Given the description of an element on the screen output the (x, y) to click on. 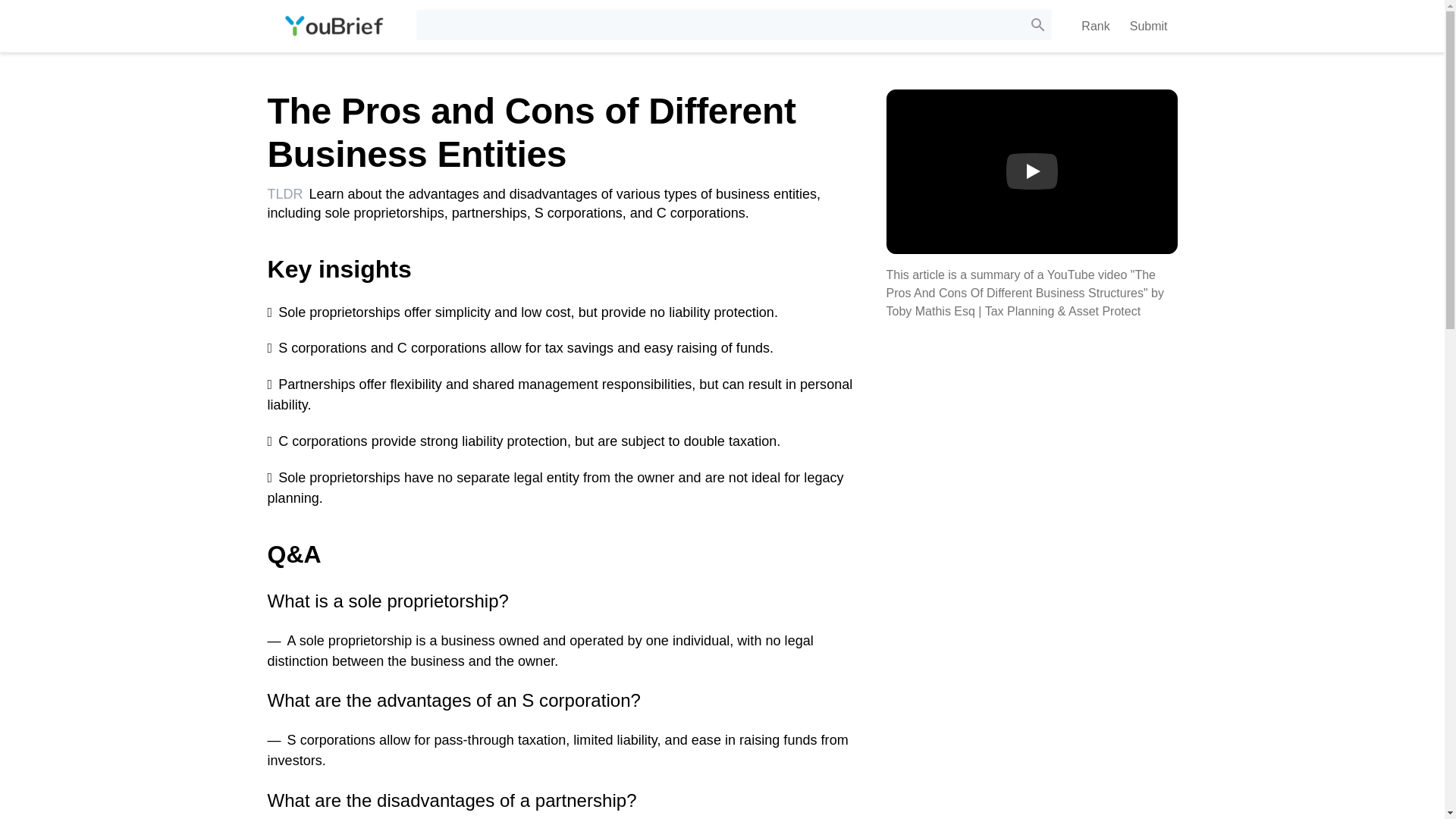
Rank (1095, 25)
Play: The Pros and Cons of Different Business Entities (1031, 171)
Submit (1148, 25)
